Given the description of an element on the screen output the (x, y) to click on. 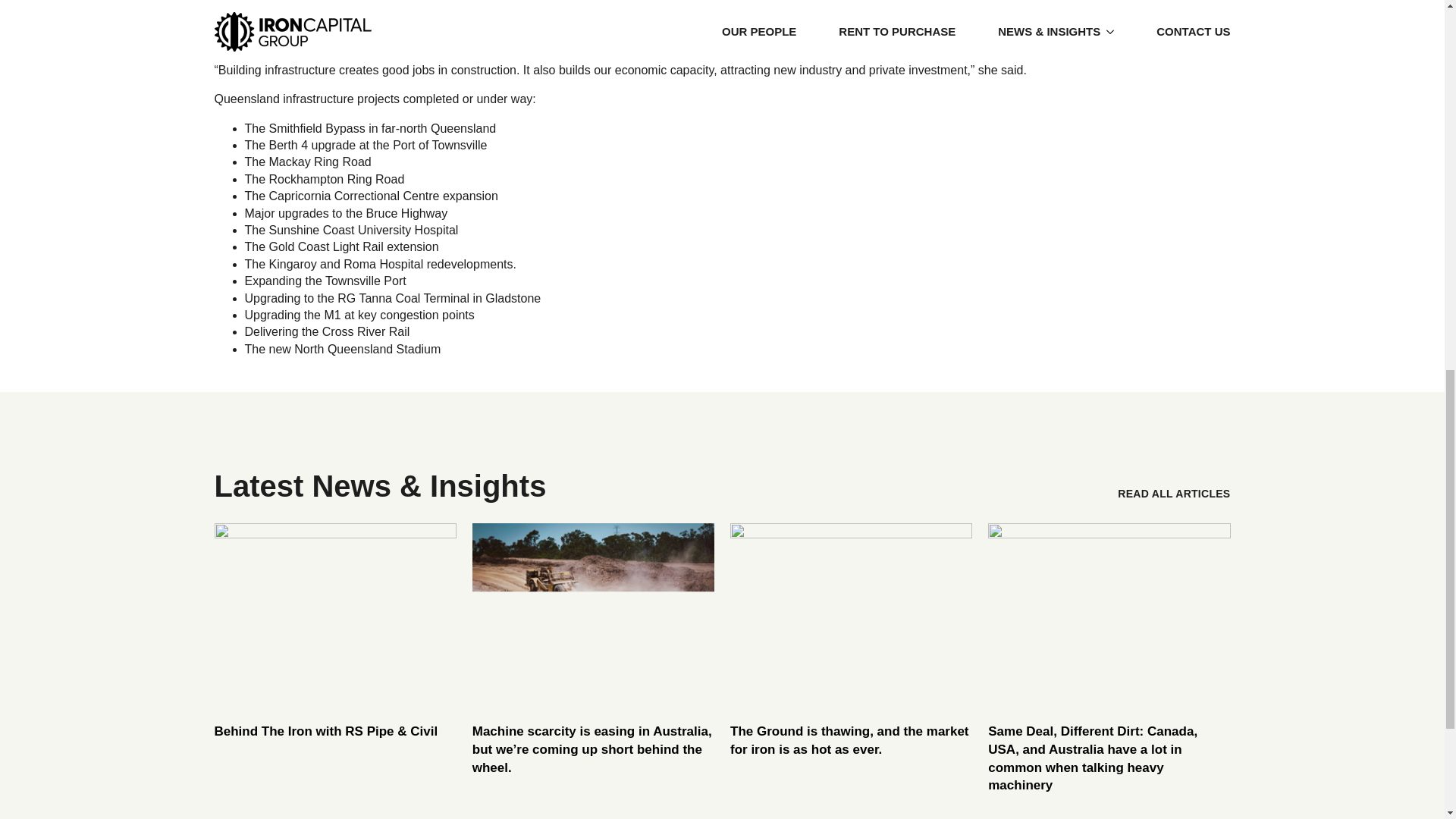
READ ALL ARTICLES (1174, 493)
